Given the description of an element on the screen output the (x, y) to click on. 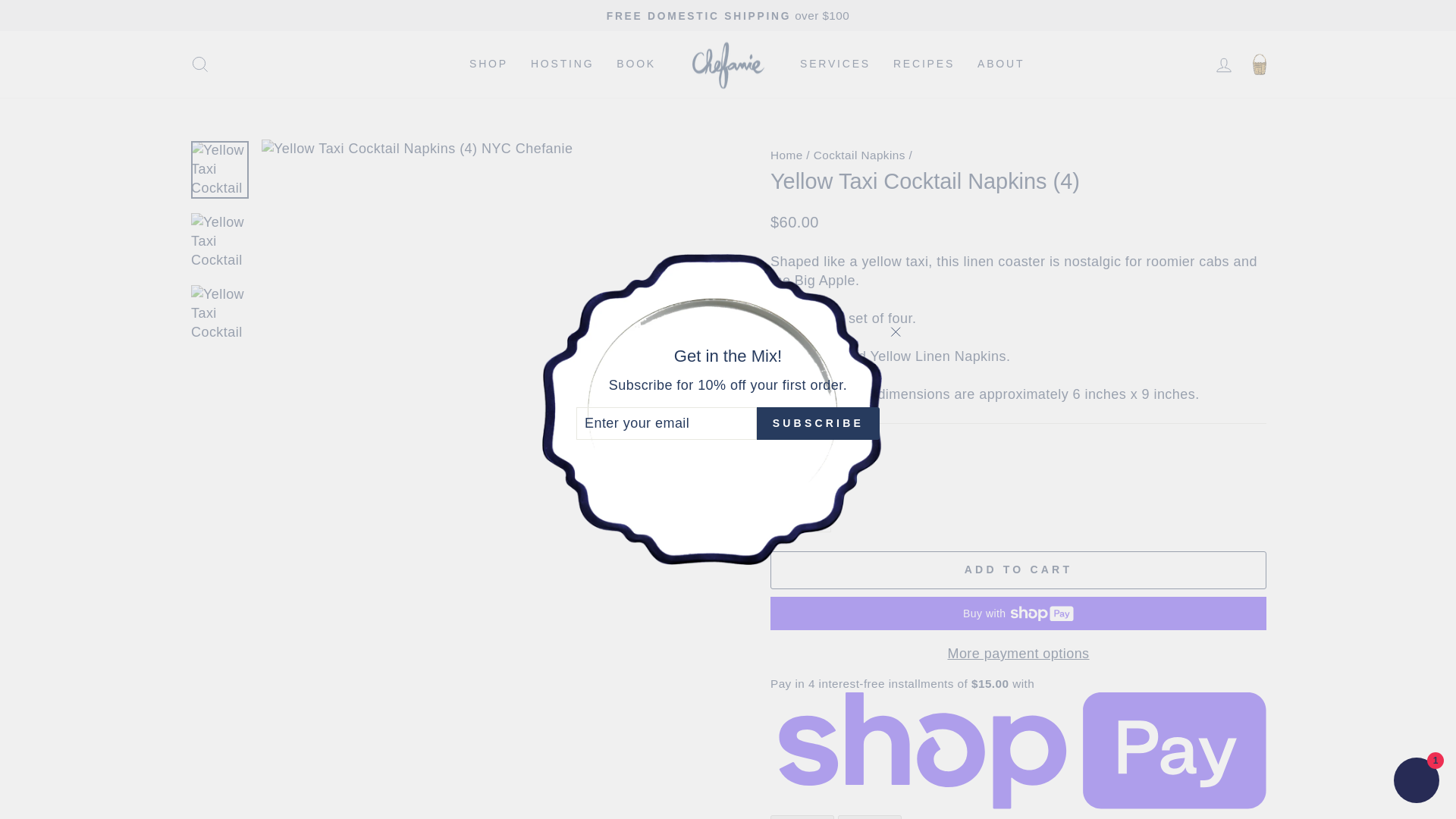
Shopify online store chat (1416, 781)
Back to the frontpage (786, 154)
1 (800, 518)
